Given the description of an element on the screen output the (x, y) to click on. 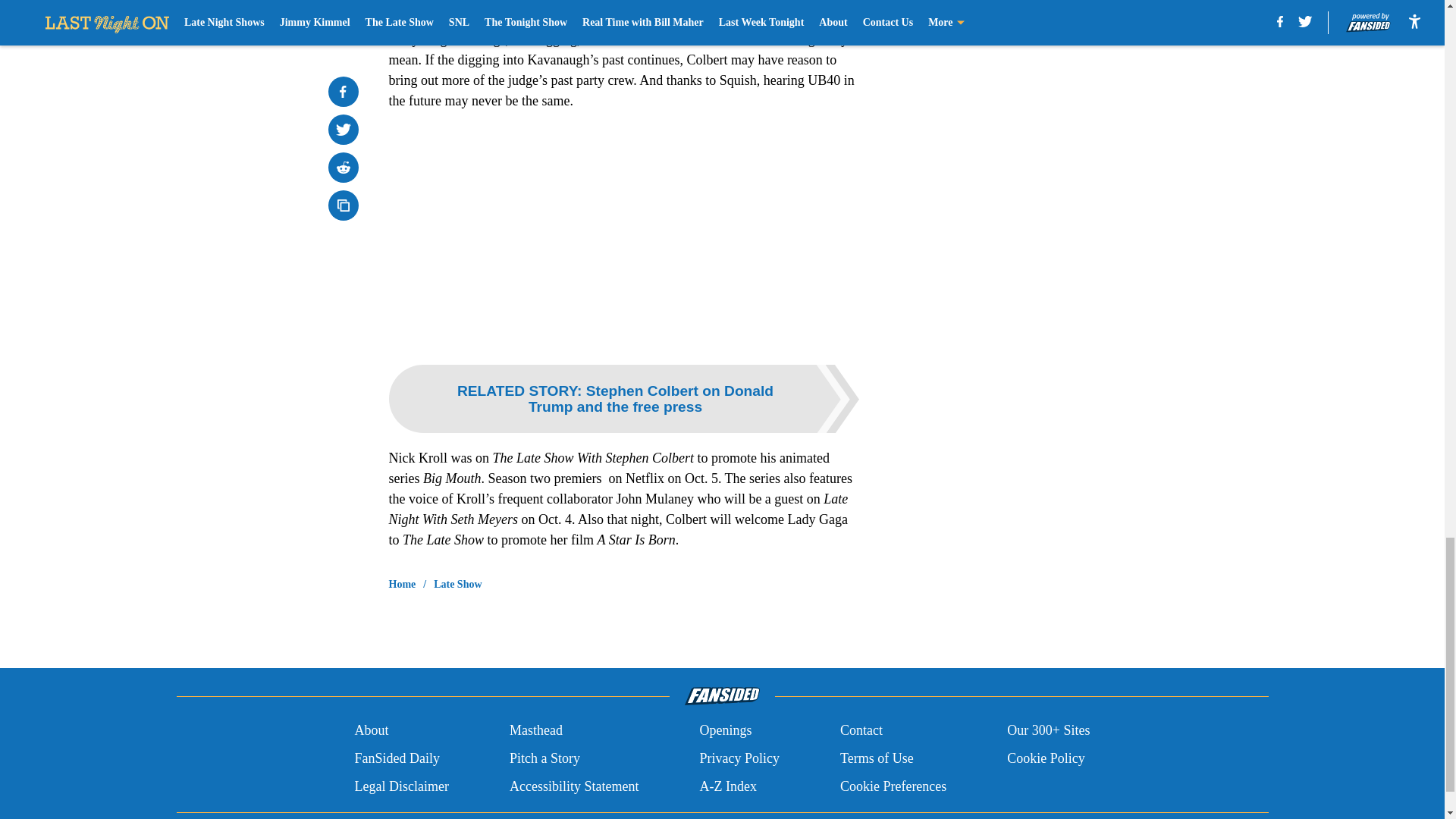
FanSided Daily (396, 758)
Masthead (535, 730)
Contact (861, 730)
Pitch a Story (544, 758)
Terms of Use (877, 758)
Openings (724, 730)
Privacy Policy (738, 758)
Home (401, 584)
About (370, 730)
Late Show (457, 584)
